Given the description of an element on the screen output the (x, y) to click on. 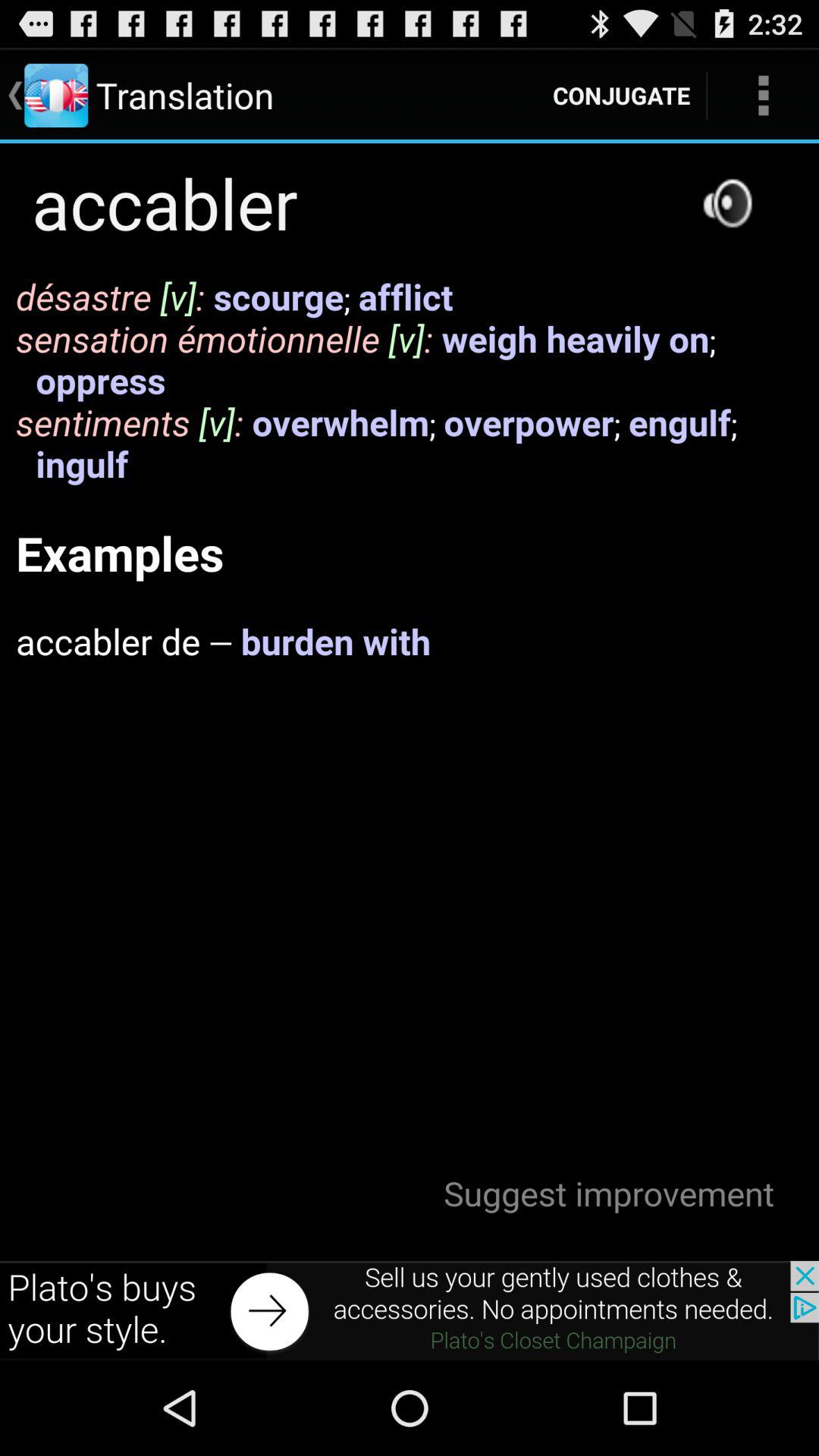
volume of sound (727, 202)
